Given the description of an element on the screen output the (x, y) to click on. 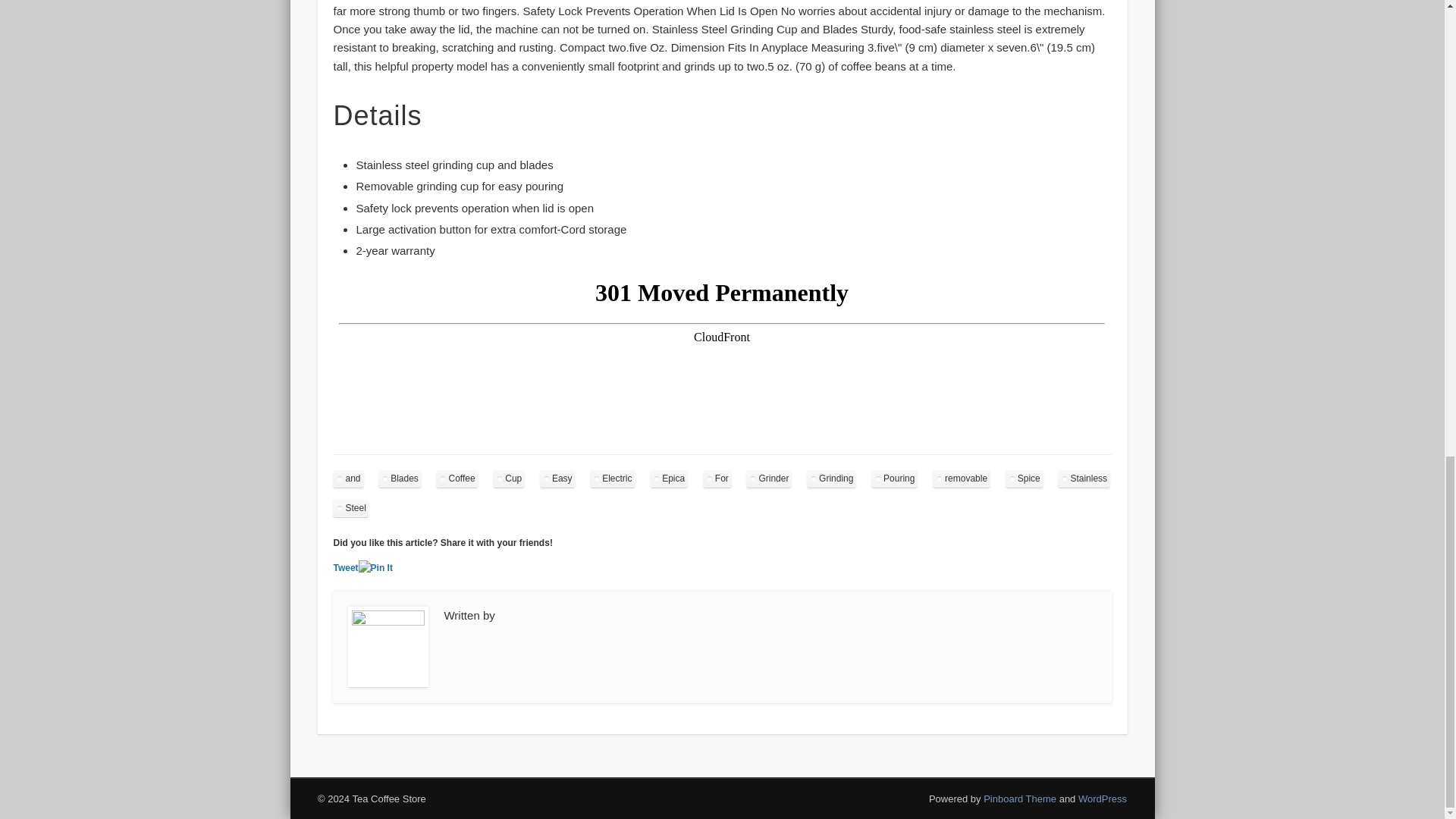
Pinboard Theme (1020, 798)
WordPress (1102, 798)
Pin It (375, 568)
